Given the description of an element on the screen output the (x, y) to click on. 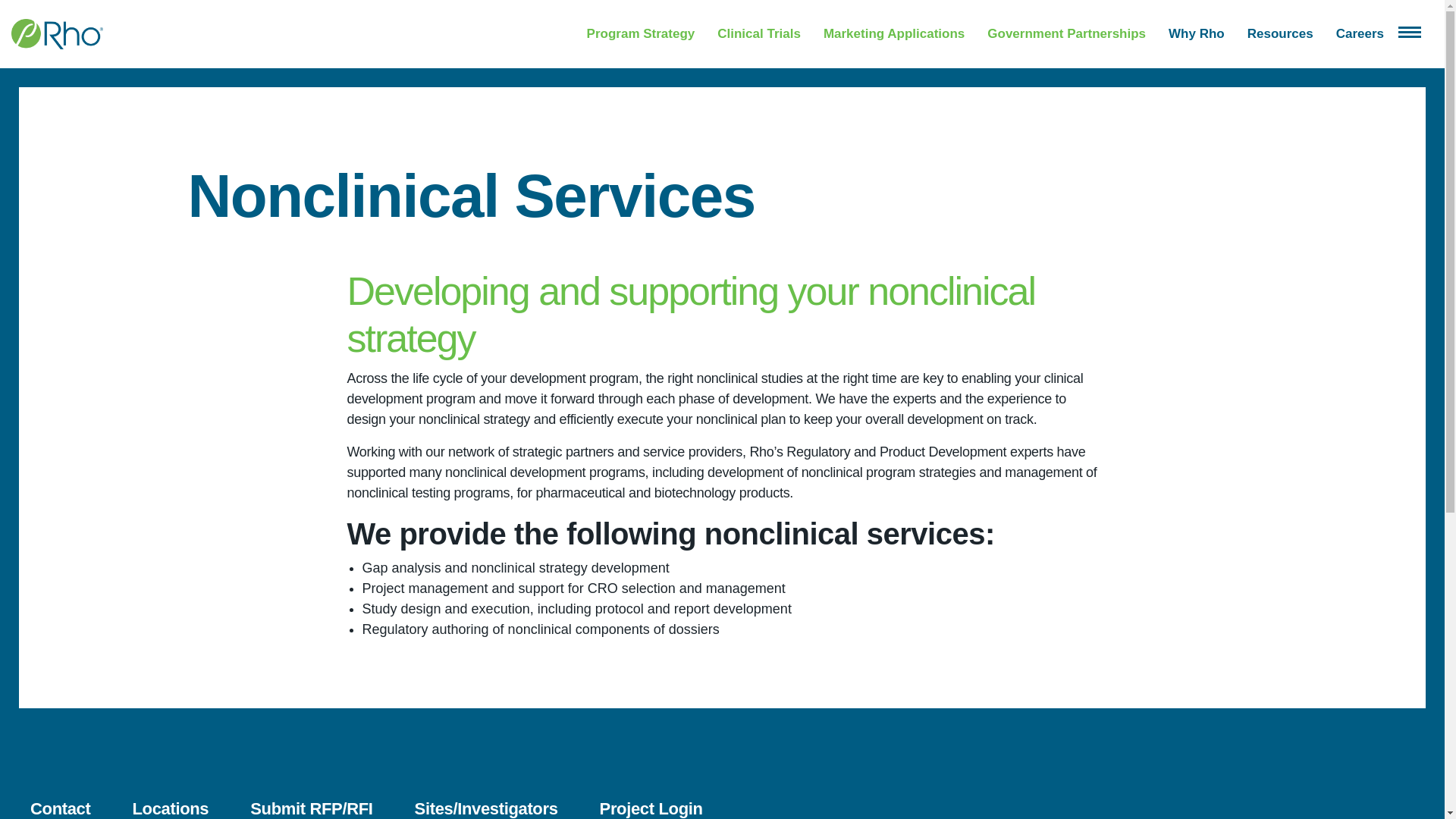
Marketing Applications (893, 33)
Rho (57, 33)
Government Partnerships (1067, 33)
Clinical Trials (759, 33)
Why Rho (1196, 33)
Careers (1359, 33)
Program Strategy (640, 33)
Resources (1280, 33)
